Given the description of an element on the screen output the (x, y) to click on. 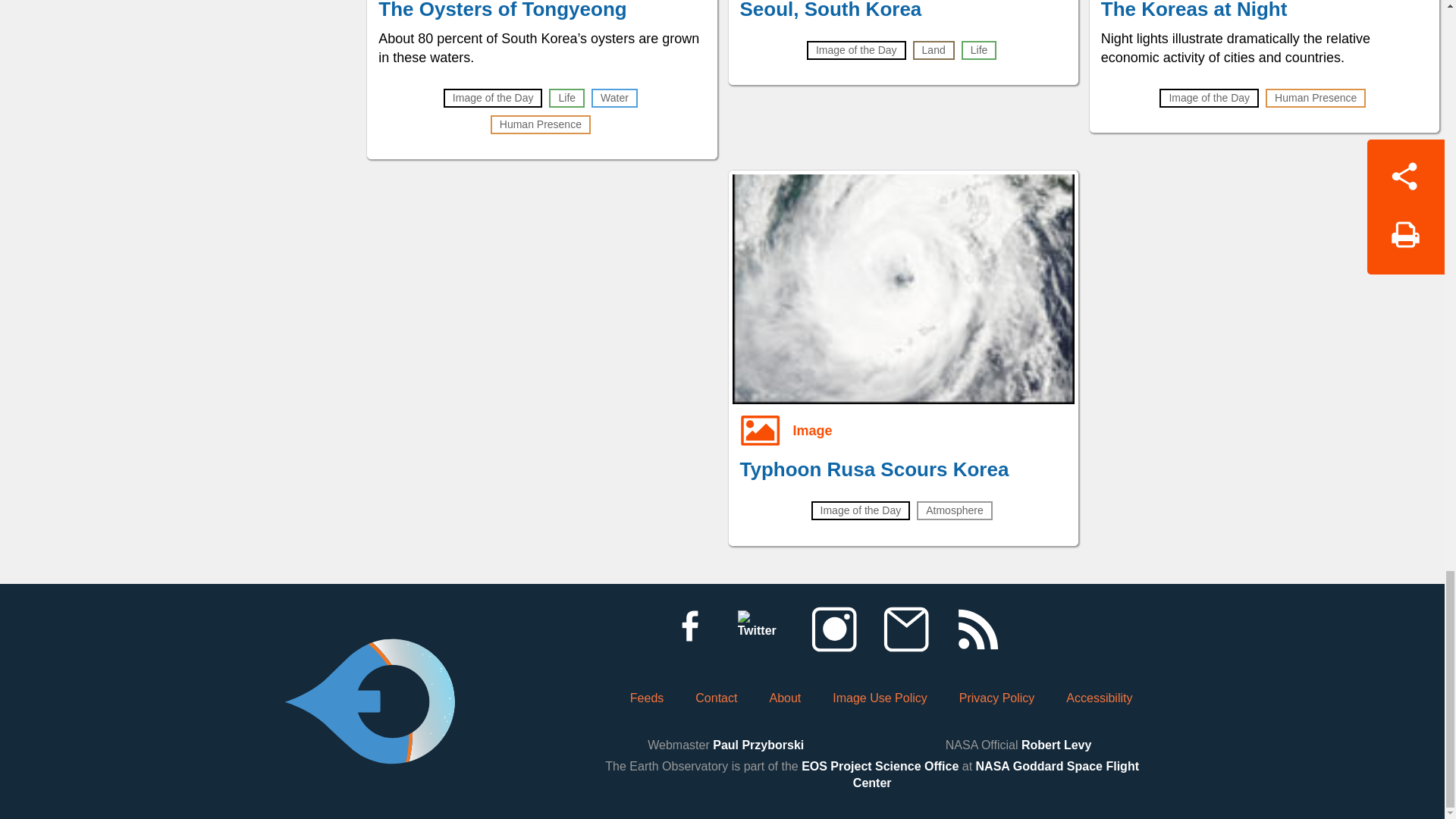
Twitter (761, 629)
RSS (977, 629)
Instagram (833, 629)
Subscribe (905, 629)
Earth Observatory (369, 659)
Facebook (689, 629)
